Given the description of an element on the screen output the (x, y) to click on. 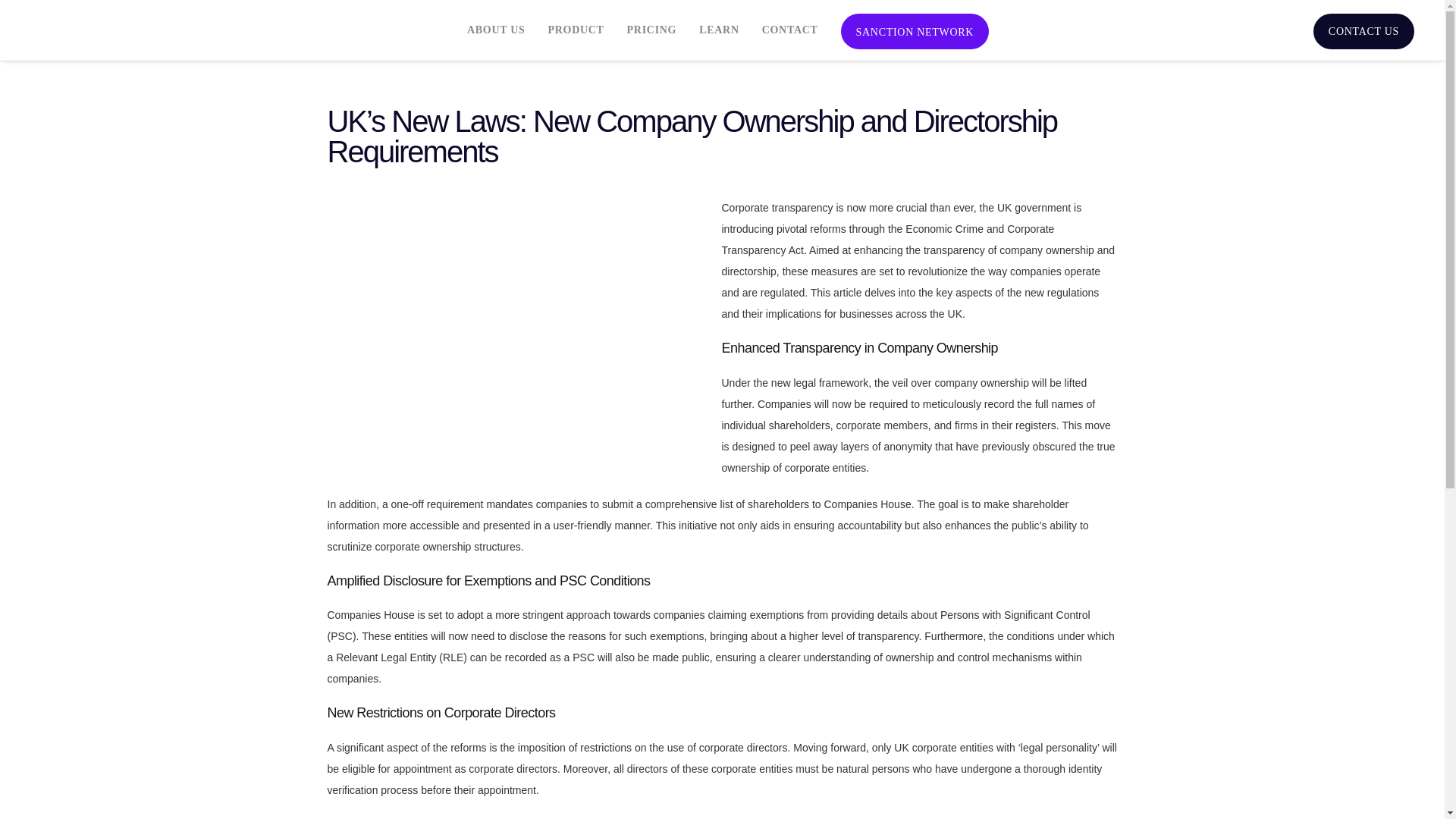
CONTACT US (1363, 31)
Contact (1363, 31)
SANCTION NETWORK (914, 31)
ABOUT US (496, 30)
PRODUCT (575, 30)
CONTACT (789, 30)
